Given the description of an element on the screen output the (x, y) to click on. 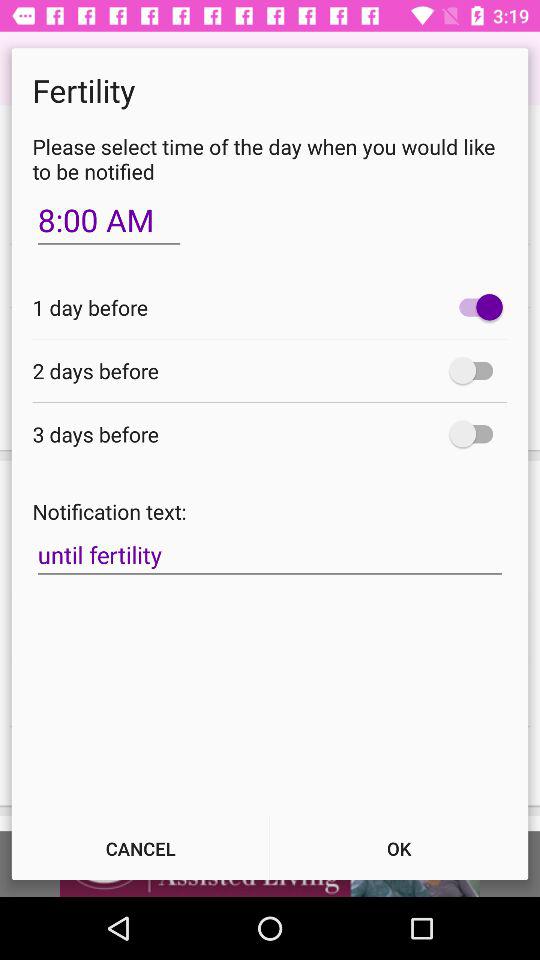
toggle option (476, 370)
